Given the description of an element on the screen output the (x, y) to click on. 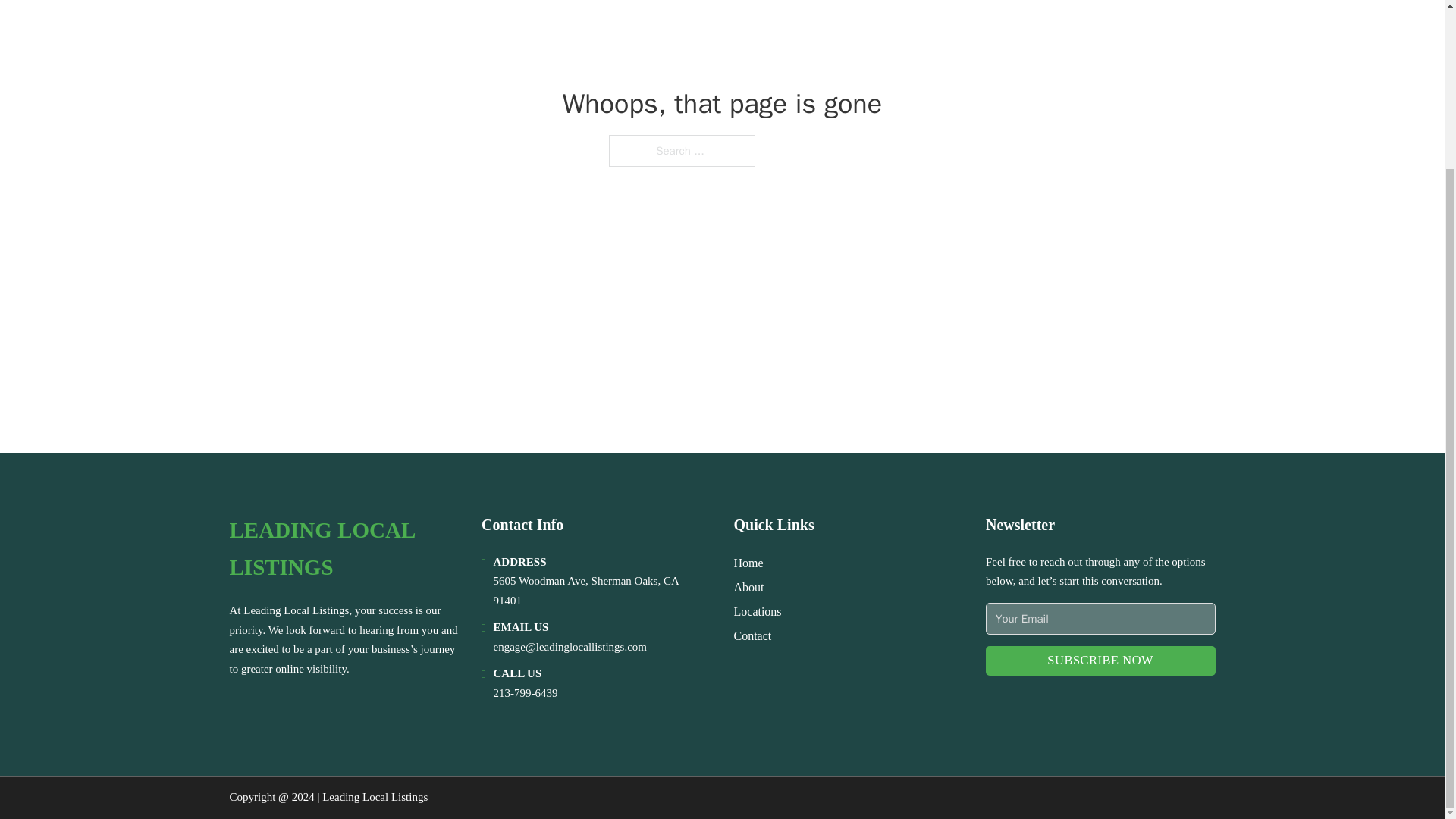
Home (747, 562)
Locations (757, 611)
About (748, 587)
SUBSCRIBE NOW (1100, 660)
Contact (752, 635)
LEADING LOCAL LISTINGS (343, 549)
213-799-6439 (525, 693)
